Given the description of an element on the screen output the (x, y) to click on. 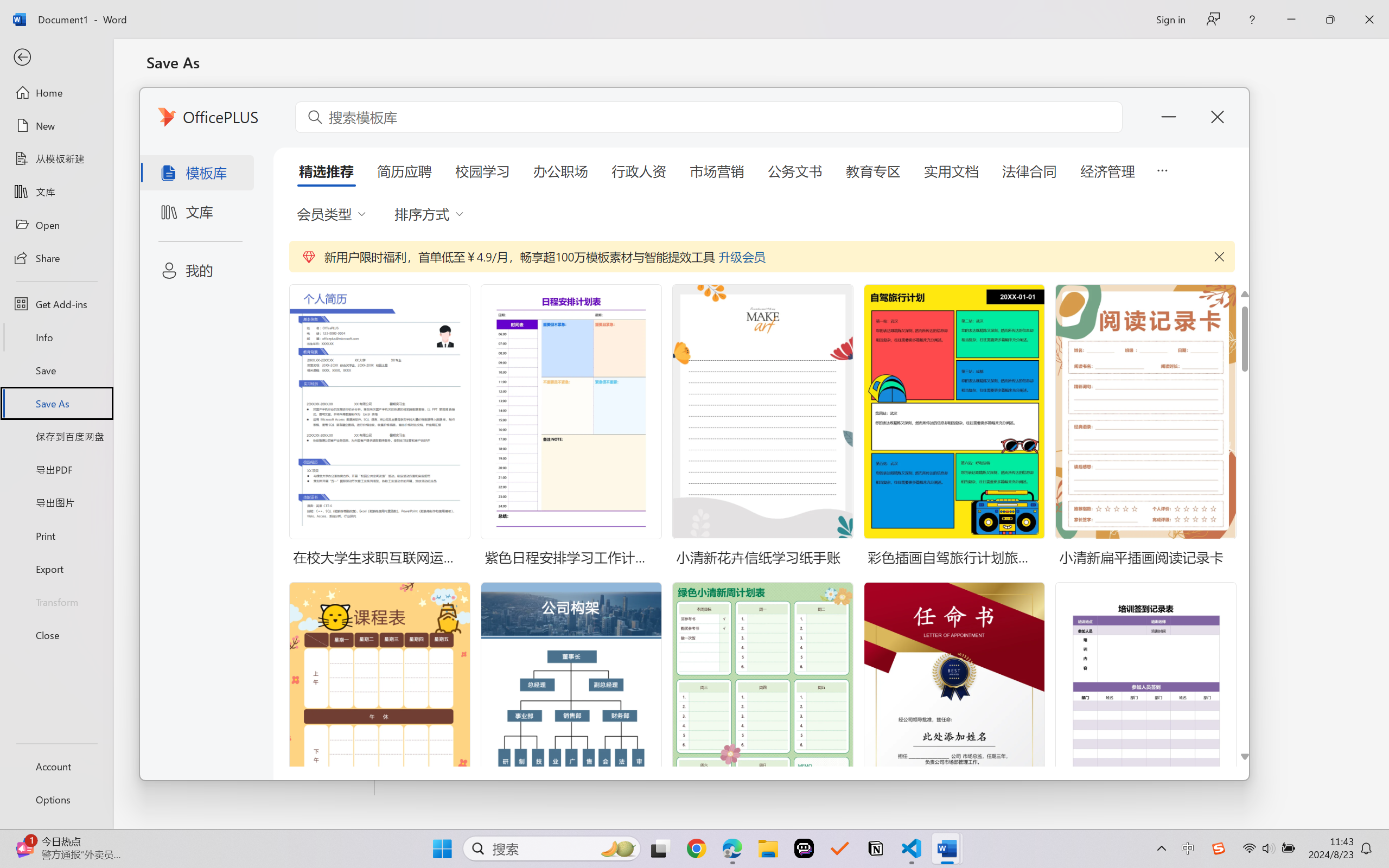
New (56, 125)
